Given the description of an element on the screen output the (x, y) to click on. 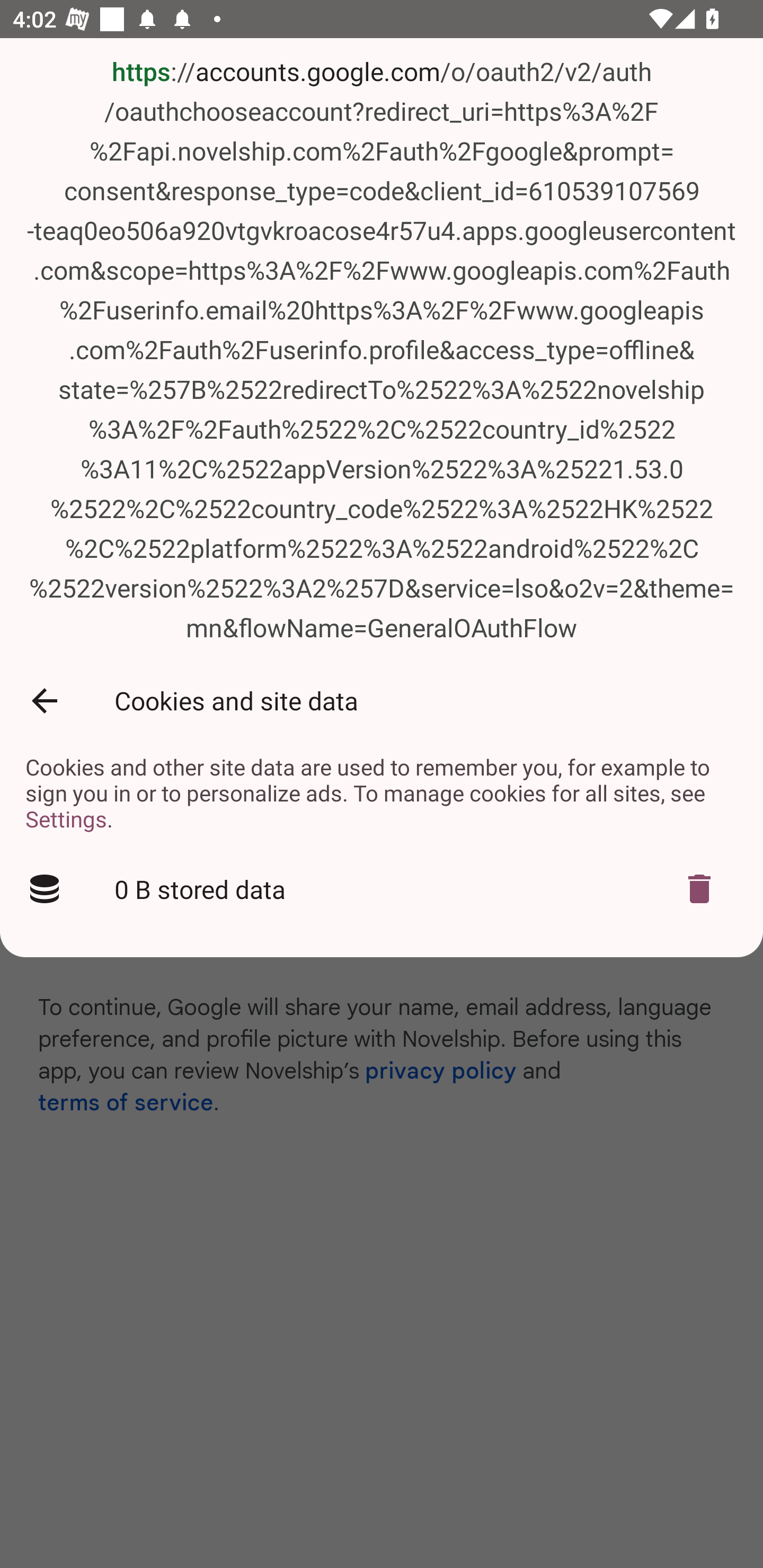
Back (44, 700)
0 B stored data Delete cookies? (381, 888)
